Given the description of an element on the screen output the (x, y) to click on. 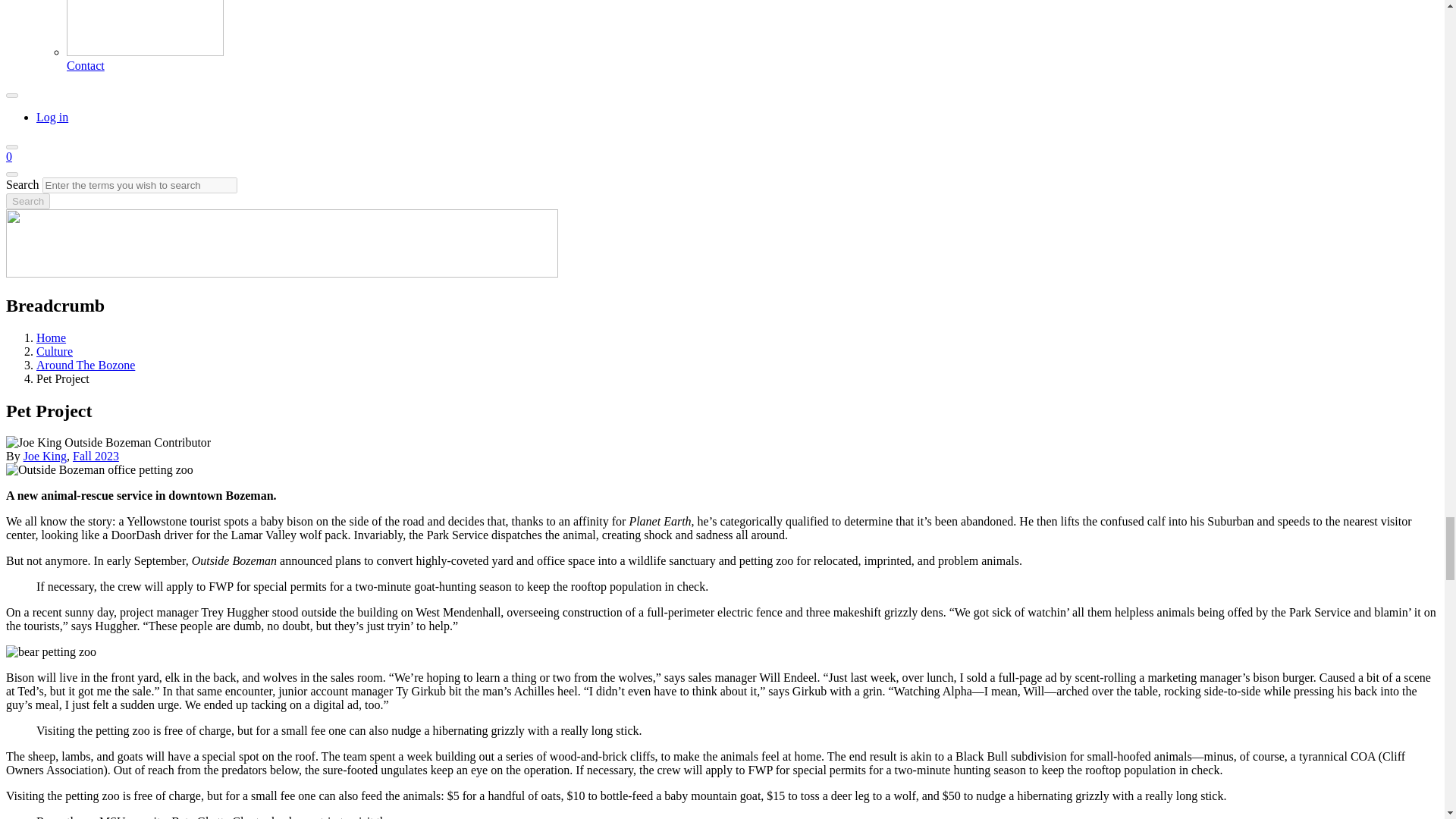
Search (27, 201)
